Given the description of an element on the screen output the (x, y) to click on. 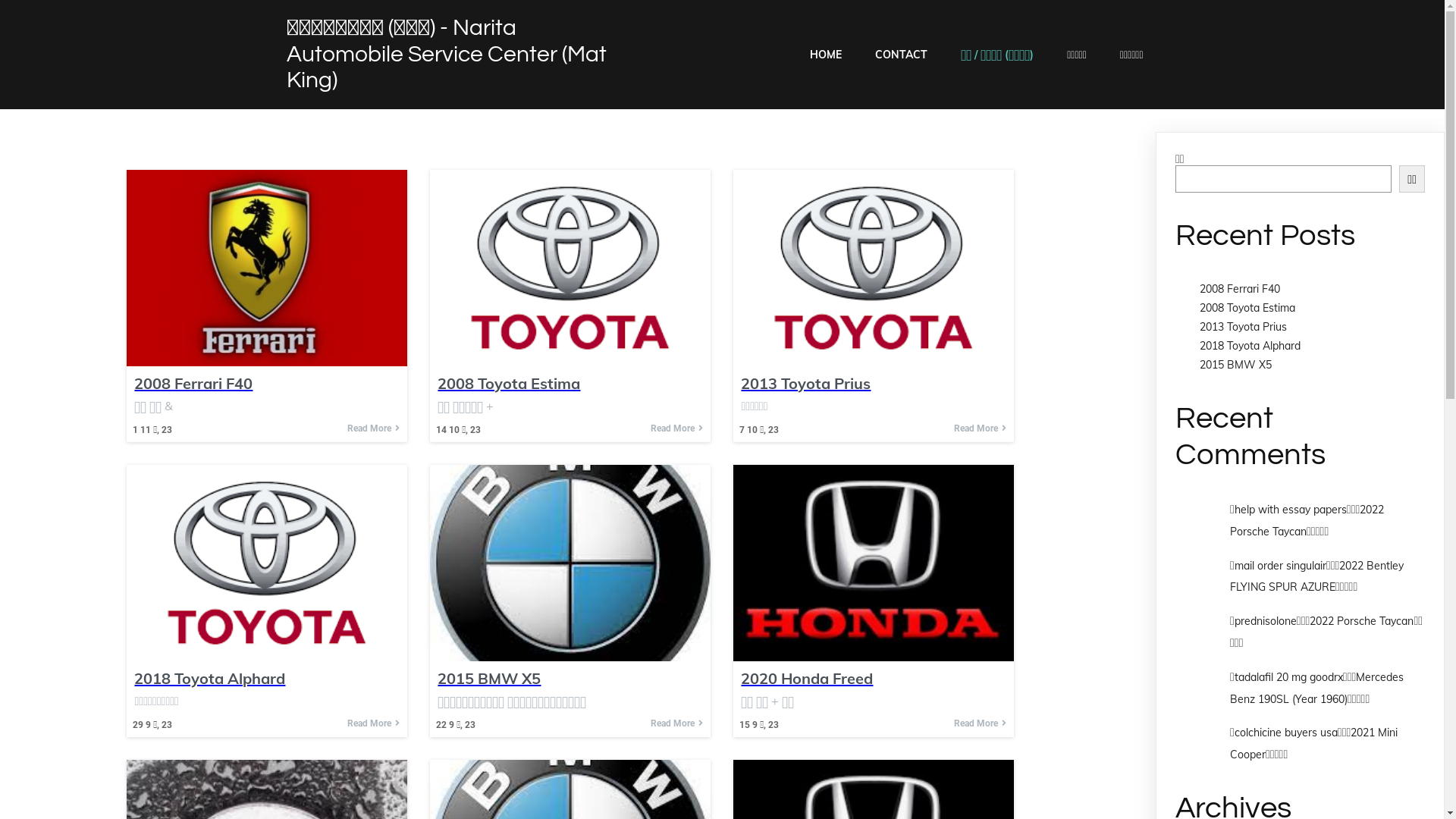
tadalafil 20 mg goodrx Element type: text (1288, 677)
help with essay papers Element type: text (1290, 509)
2018 Toyota Alphard Element type: text (266, 678)
mail order singulair Element type: text (1280, 565)
2013 Toyota Prius Element type: text (1242, 326)
2008 Ferrari F40 Element type: text (1239, 288)
Read More Element type: text (373, 723)
2018 Toyota Alphard Element type: text (1249, 345)
colchicine buyers usa Element type: text (1285, 732)
2022 Porsche Taycan Element type: text (1306, 520)
Read More Element type: text (676, 723)
Read More Element type: text (676, 428)
2022 Porsche Taycan Element type: text (1361, 620)
2021 Mini Cooper Element type: text (1313, 743)
Read More Element type: text (373, 428)
Read More Element type: text (979, 723)
2008 Toyota Estima Element type: text (1247, 307)
2013 Toyota Prius Element type: text (873, 383)
Mercedes Benz 190SL (Year 1960) Element type: text (1316, 688)
2015 BMW X5 Element type: text (1235, 364)
Read More Element type: text (979, 428)
2022 Bentley FLYING SPUR AZURE Element type: text (1316, 576)
2008 Toyota Estima Element type: text (569, 383)
prednisolone Element type: text (1265, 620)
2020 Honda Freed Element type: text (873, 678)
2015 BMW X5 Element type: text (569, 678)
CONTACT Element type: text (900, 54)
HOME Element type: text (825, 54)
2008 Ferrari F40 Element type: text (266, 383)
